Given the description of an element on the screen output the (x, y) to click on. 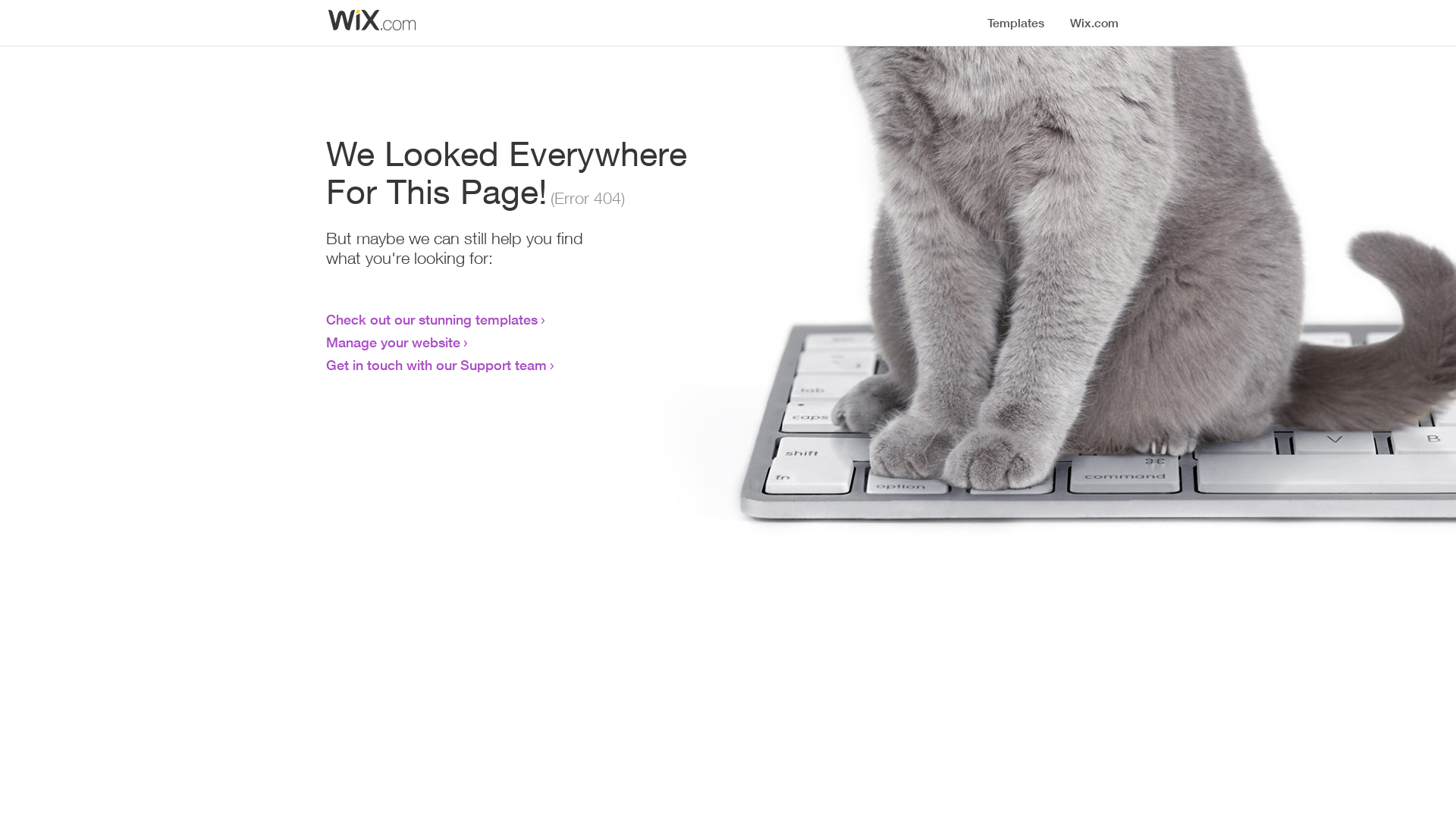
Get in touch with our Support team Element type: text (436, 364)
Check out our stunning templates Element type: text (431, 318)
Manage your website Element type: text (393, 341)
